Given the description of an element on the screen output the (x, y) to click on. 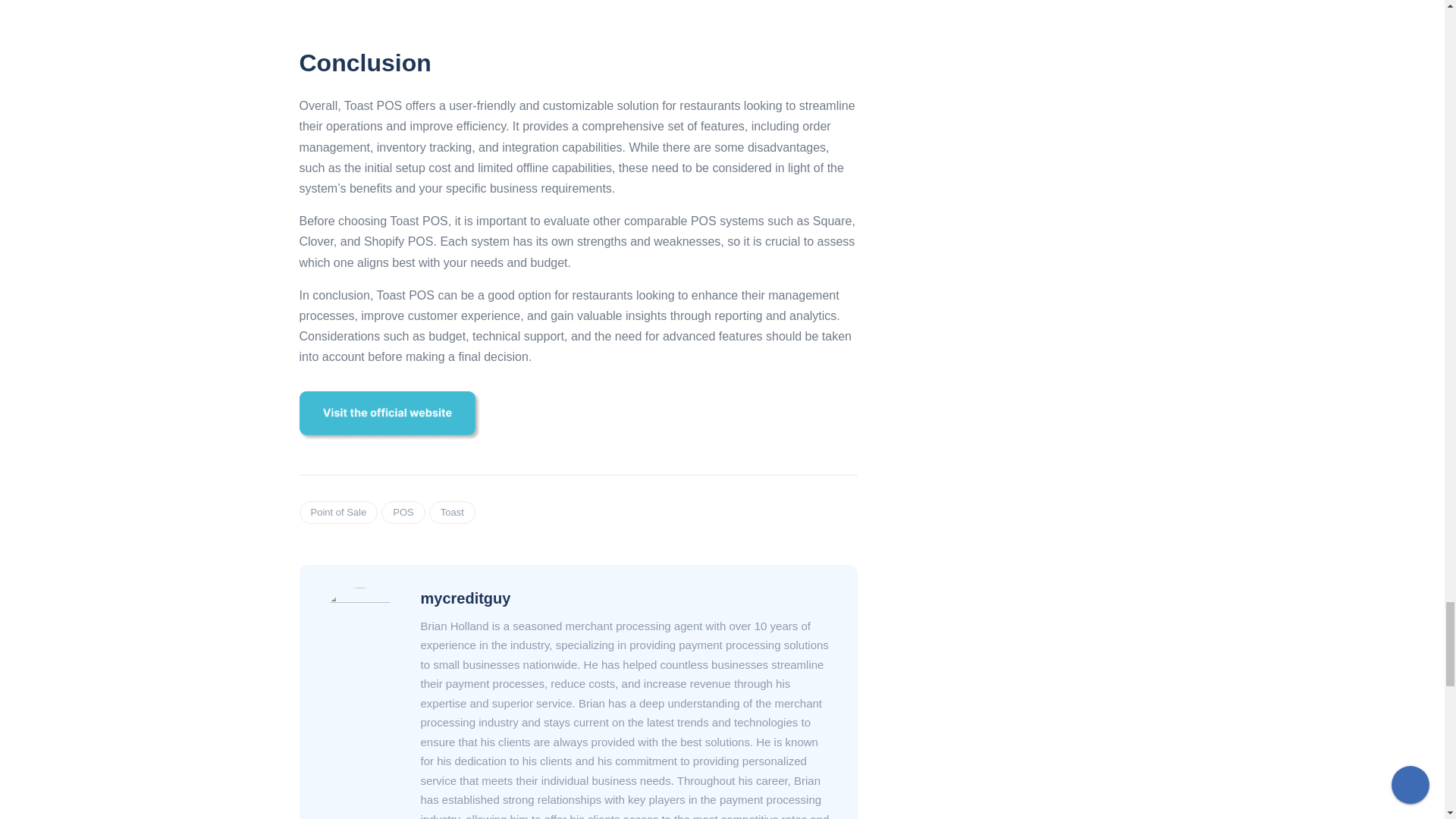
mycreditguy (465, 597)
Point of Sale (337, 512)
Discover more about the Is Toast A Good POS?. (389, 415)
POS (403, 512)
Discover more about the Is Toast A Good POS?. (389, 413)
Toast (452, 512)
Is Toast A Good POS? (577, 15)
